Given the description of an element on the screen output the (x, y) to click on. 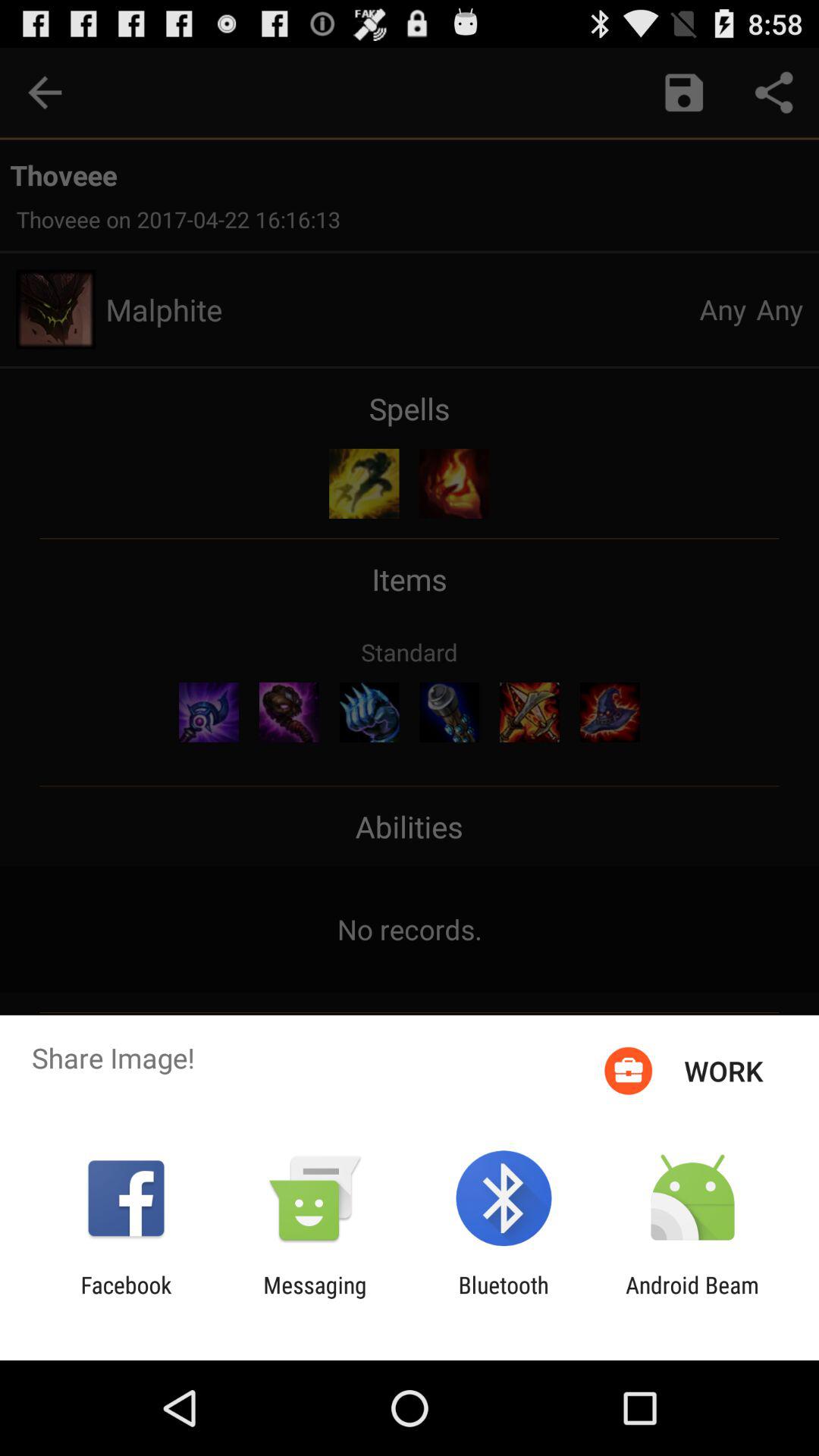
launch icon next to bluetooth (314, 1298)
